Given the description of an element on the screen output the (x, y) to click on. 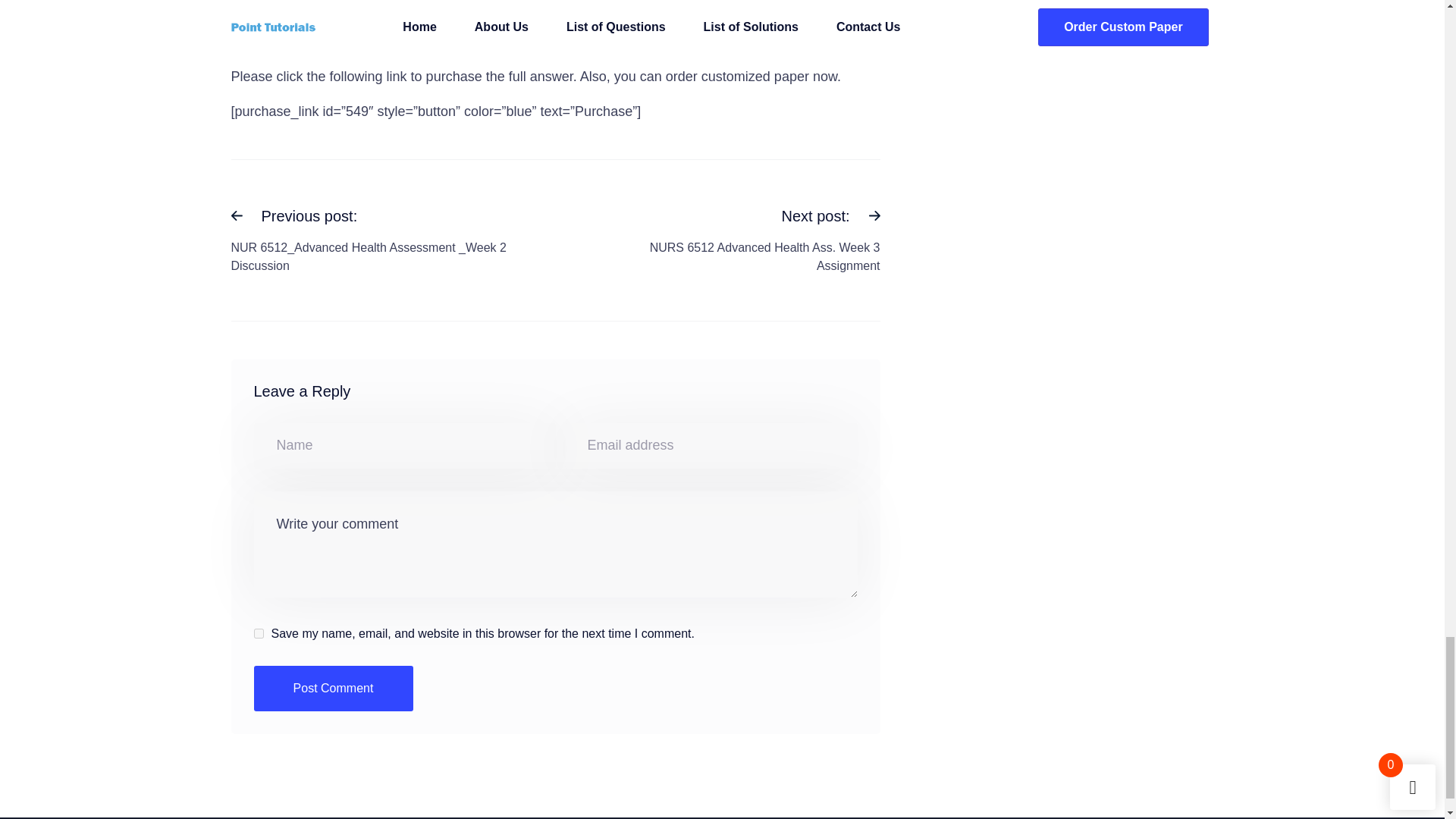
Post Comment (720, 240)
Post Comment (332, 688)
yes (332, 688)
